Given the description of an element on the screen output the (x, y) to click on. 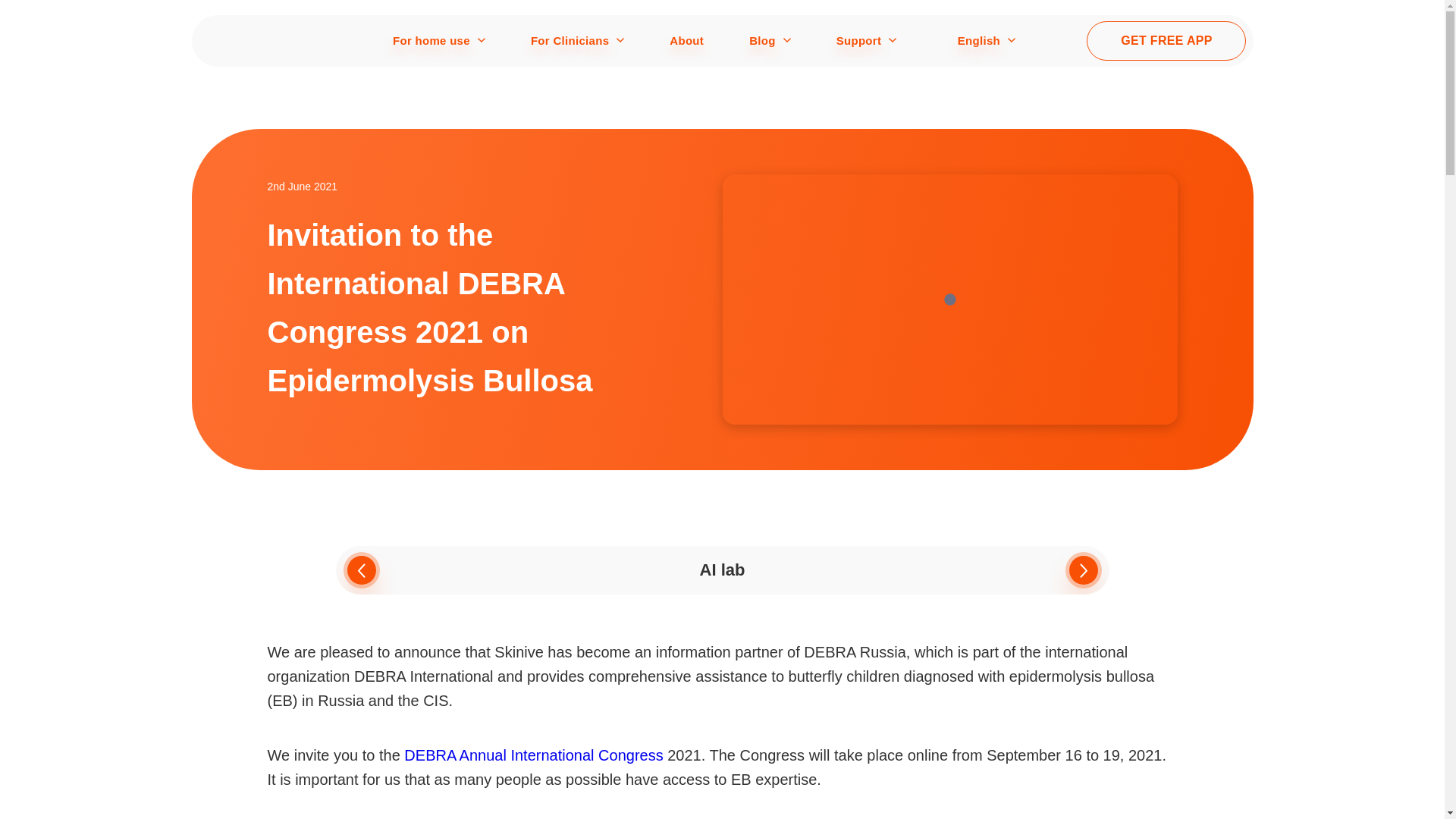
For Clinicians (569, 40)
Support (858, 40)
DEBRA Annual International Congress (533, 754)
English (971, 40)
GET FREE APP (1166, 40)
For home use (431, 40)
About (686, 40)
Blog (762, 40)
AI lab (721, 570)
